Given the description of an element on the screen output the (x, y) to click on. 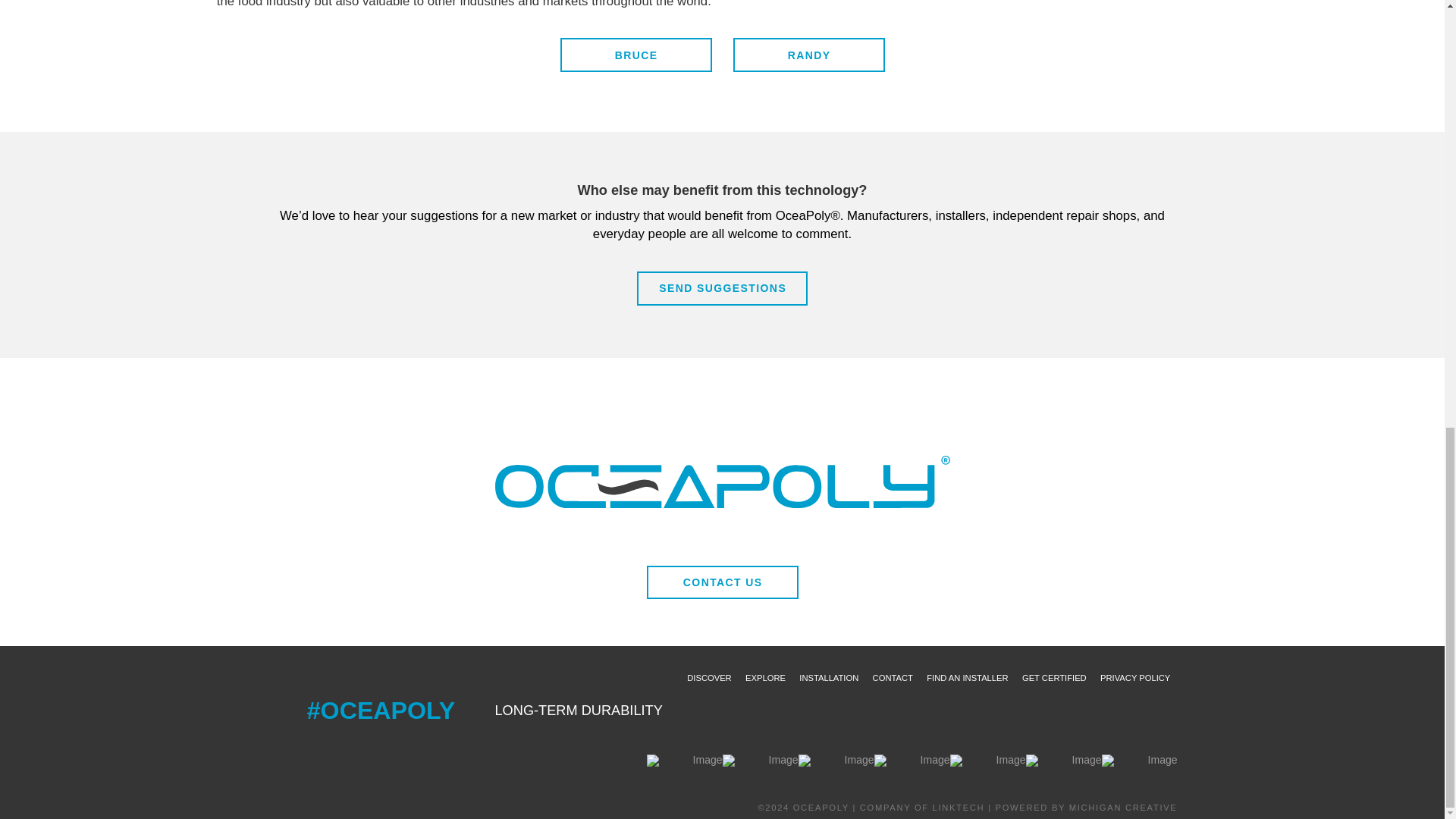
INSTALLATION (828, 677)
DISCOVER (708, 677)
GET CERTIFIED (1053, 677)
RANDY (807, 54)
PRIVACY POLICY (1135, 677)
BRUCE (635, 54)
EXPLORE (765, 677)
MICHIGAN CREATIVE (1122, 807)
CONTACT US (721, 582)
CONTACT (892, 677)
